Given the description of an element on the screen output the (x, y) to click on. 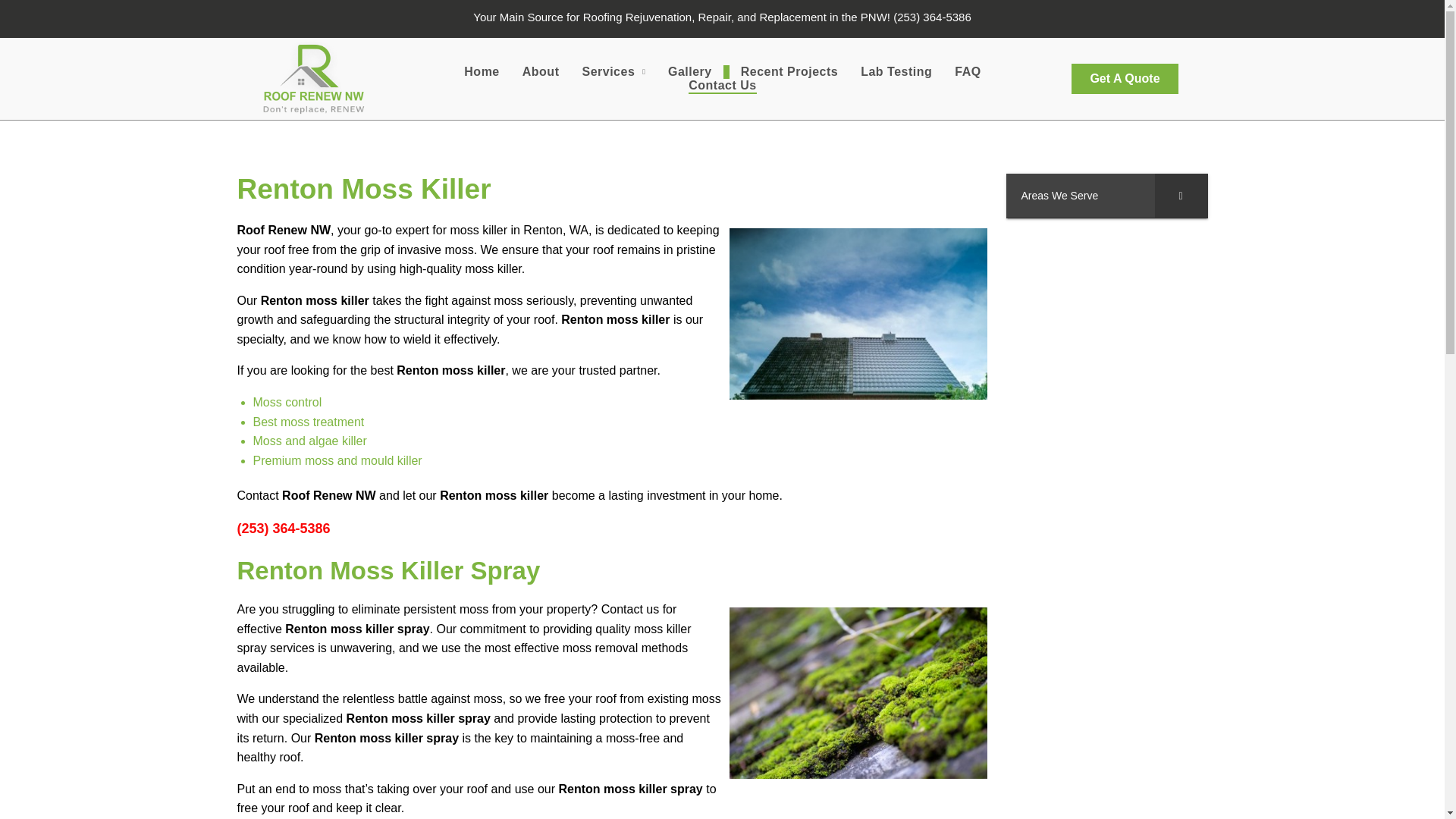
About (540, 71)
Renton Moss Killer Spray (857, 692)
Services (613, 71)
Home (481, 71)
Renton Moss Killer (857, 313)
Lab Testing (895, 71)
Get A Quote (1124, 78)
FAQ (967, 71)
Areas We Serve (1106, 195)
Contact Us (722, 86)
Gallery (689, 71)
Recent Projects (788, 71)
